Given the description of an element on the screen output the (x, y) to click on. 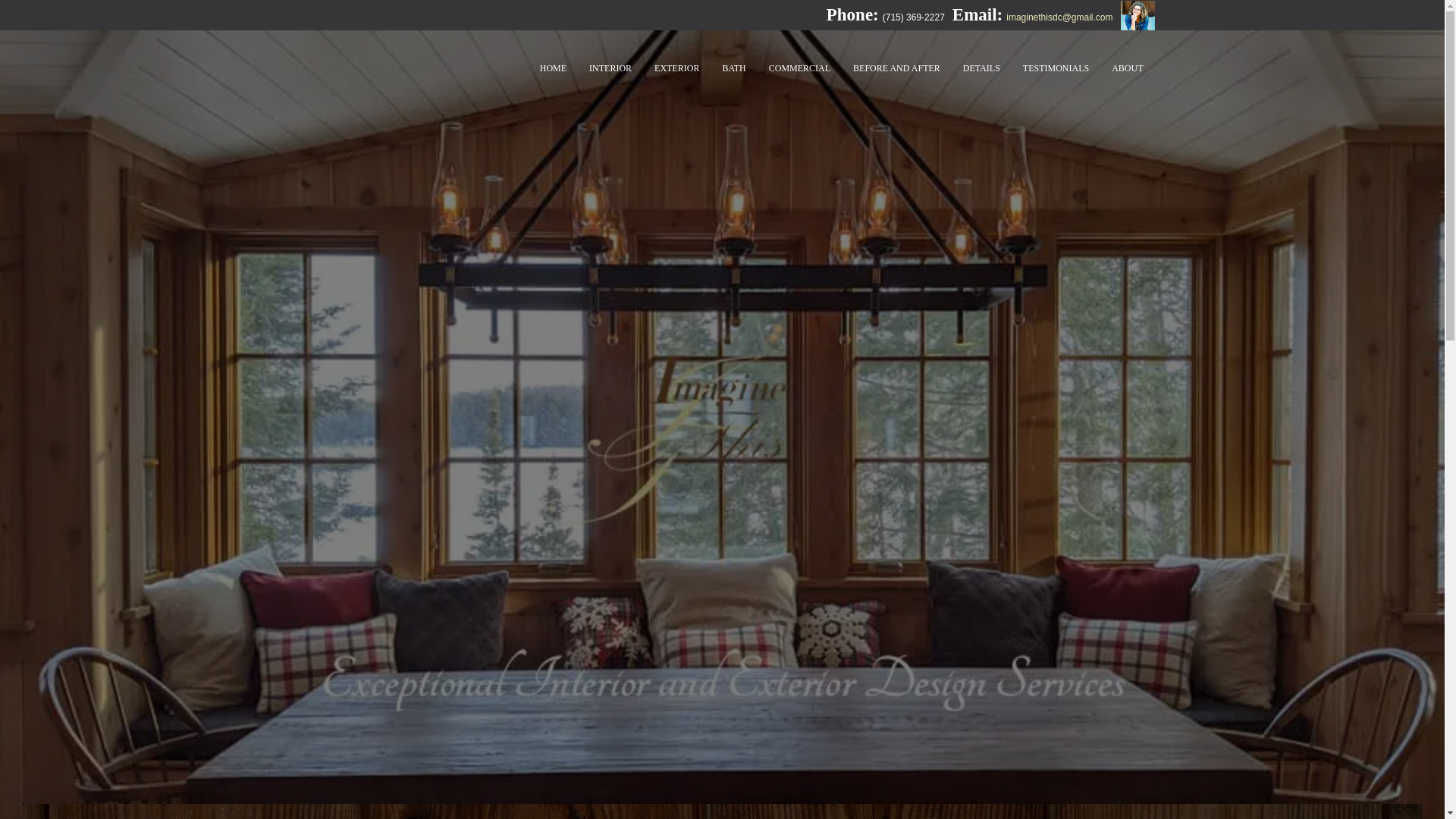
Details (981, 67)
Testimonials (1055, 67)
Bath (733, 67)
Interior (610, 67)
ABOUT (1127, 67)
Before and After (896, 67)
Exterior (676, 67)
COMMERCIAL (799, 67)
About (1127, 67)
HOME (553, 67)
